Given the description of an element on the screen output the (x, y) to click on. 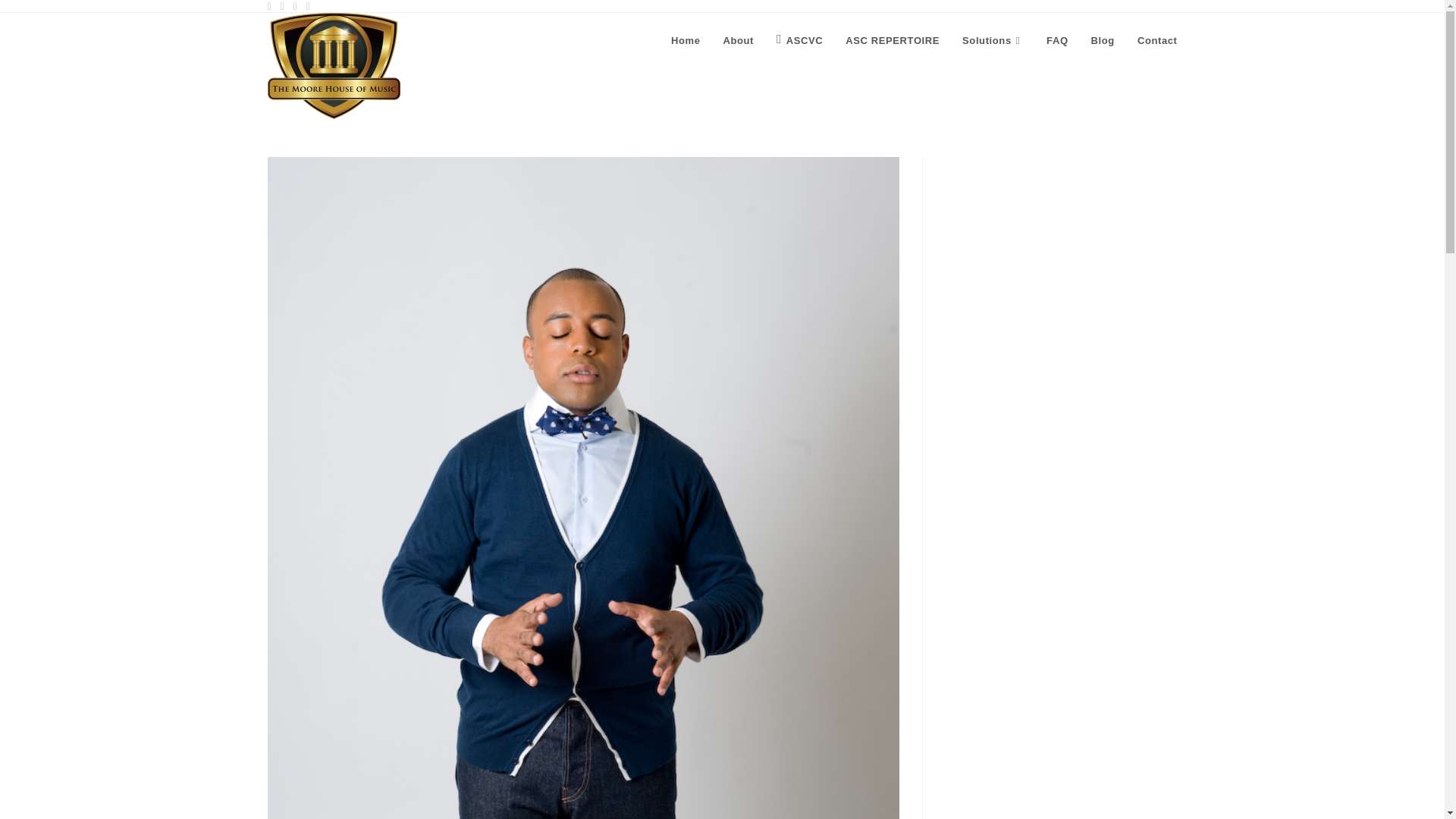
Home (685, 40)
Contact (1157, 40)
ASCVC (799, 40)
About (738, 40)
Solutions (992, 40)
ASC REPERTOIRE (892, 40)
